Given the description of an element on the screen output the (x, y) to click on. 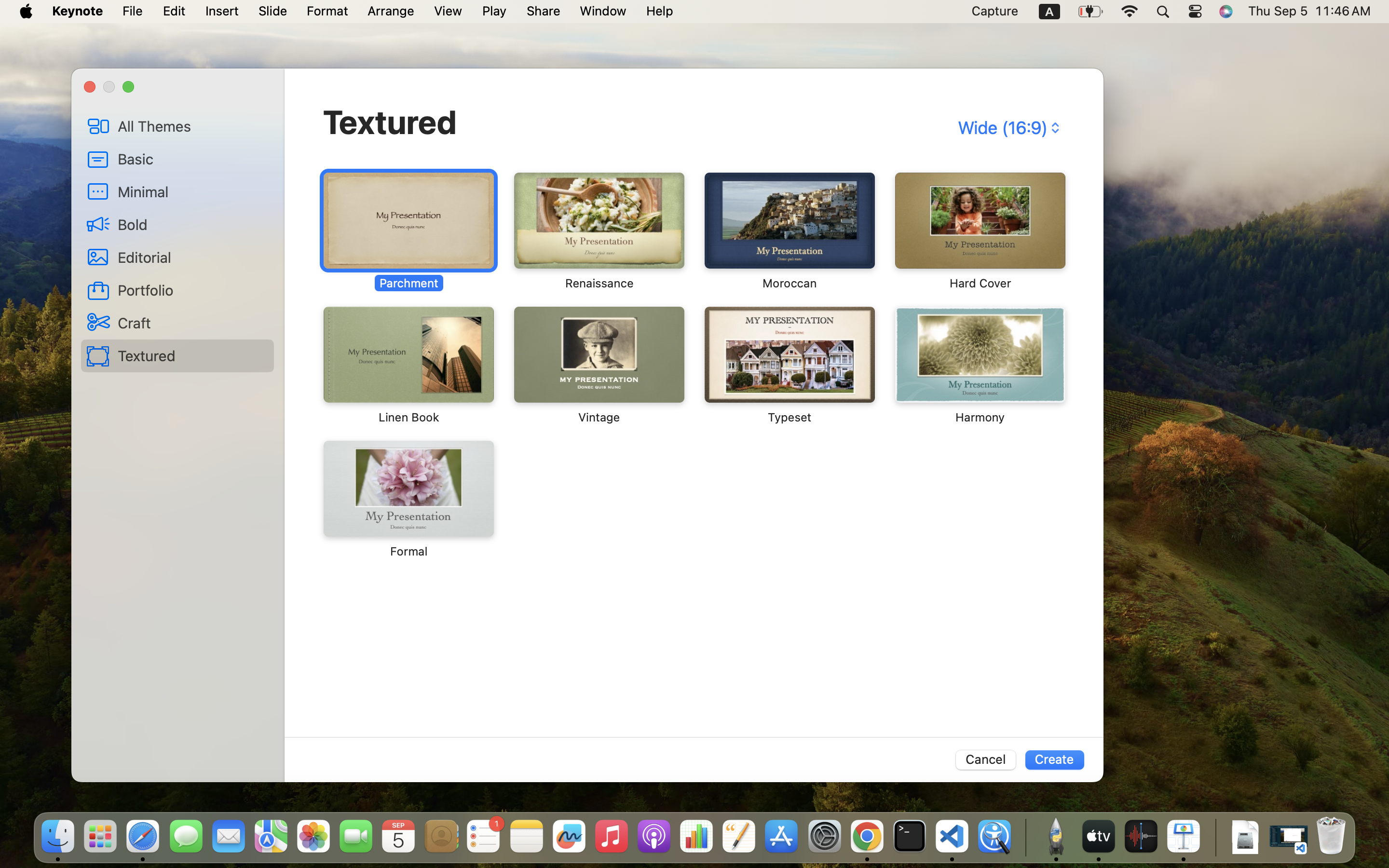
‎⁨Renaissance⁩ Element type: AXButton (598, 230)
Bold Element type: AXStaticText (191, 224)
‎⁨Vintage⁩ Element type: AXButton (598, 365)
Basic Element type: AXStaticText (191, 158)
‎⁨Parchment⁩ Element type: AXButton (408, 230)
